Given the description of an element on the screen output the (x, y) to click on. 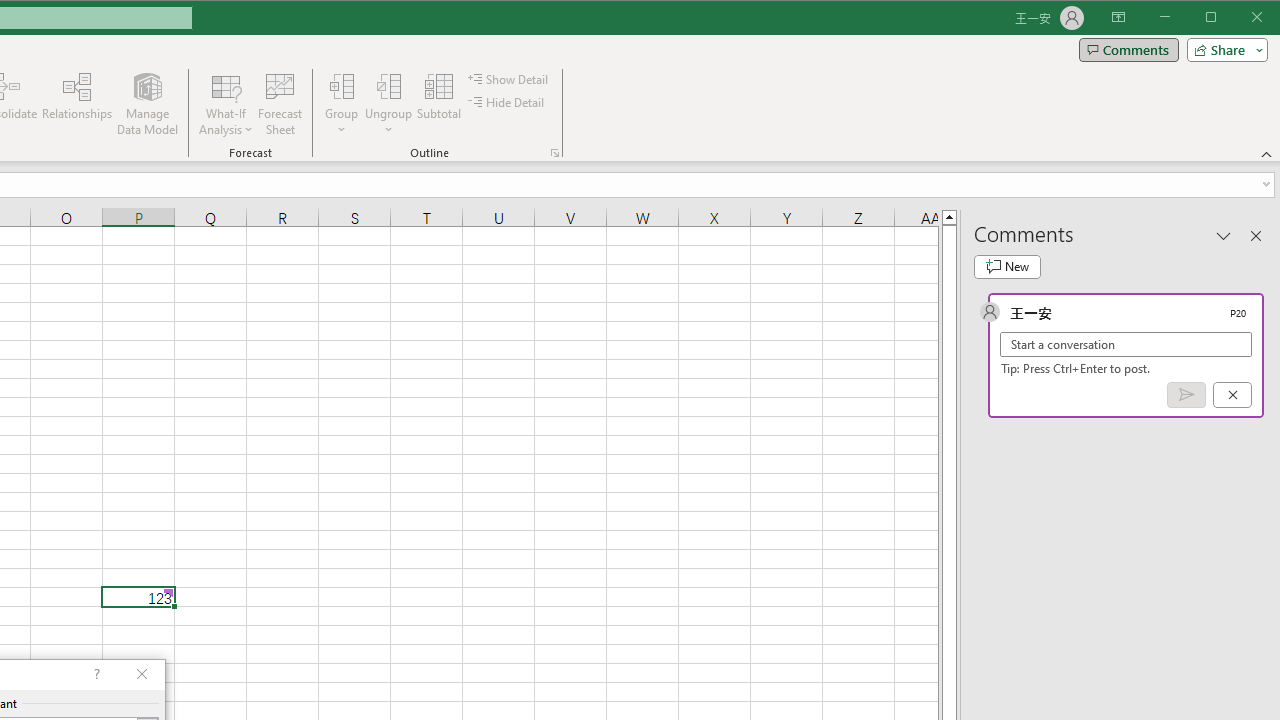
Group... (342, 86)
New comment (1007, 266)
Close (1261, 18)
Hide Detail (506, 101)
Ungroup... (388, 86)
Maximize (1239, 18)
Forecast Sheet (280, 104)
Ungroup... (388, 104)
Relationships (77, 104)
Close pane (1256, 235)
Group... (342, 104)
Comments (1128, 49)
Manage Data Model (147, 104)
Ribbon Display Options (1118, 17)
Task Pane Options (1224, 235)
